Given the description of an element on the screen output the (x, y) to click on. 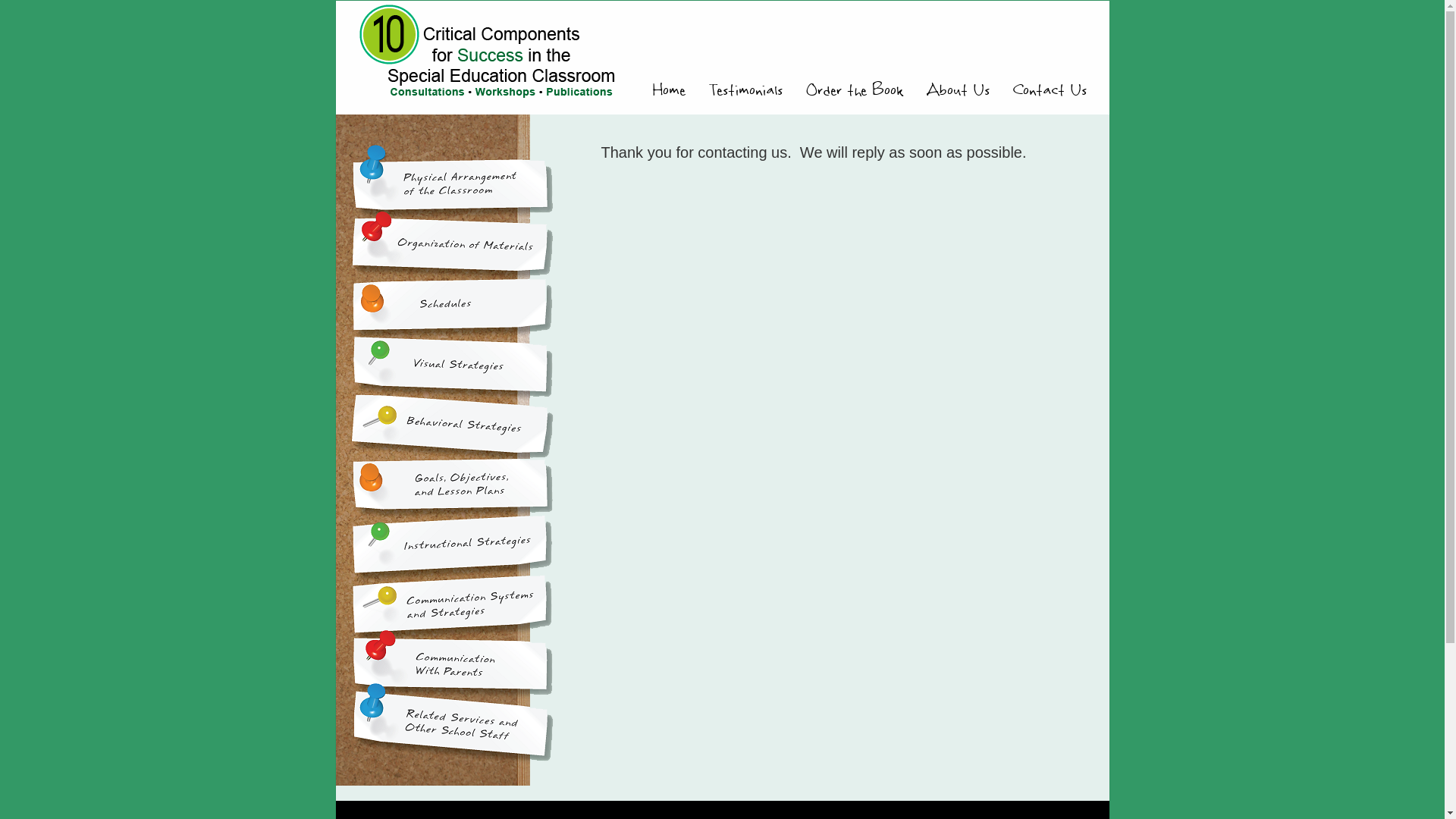
About Us Element type: text (957, 91)
Order the Book Element type: text (853, 91)
Testimonials Element type: text (744, 91)
Home Element type: text (668, 91)
Contact Us Element type: text (1049, 91)
